Given the description of an element on the screen output the (x, y) to click on. 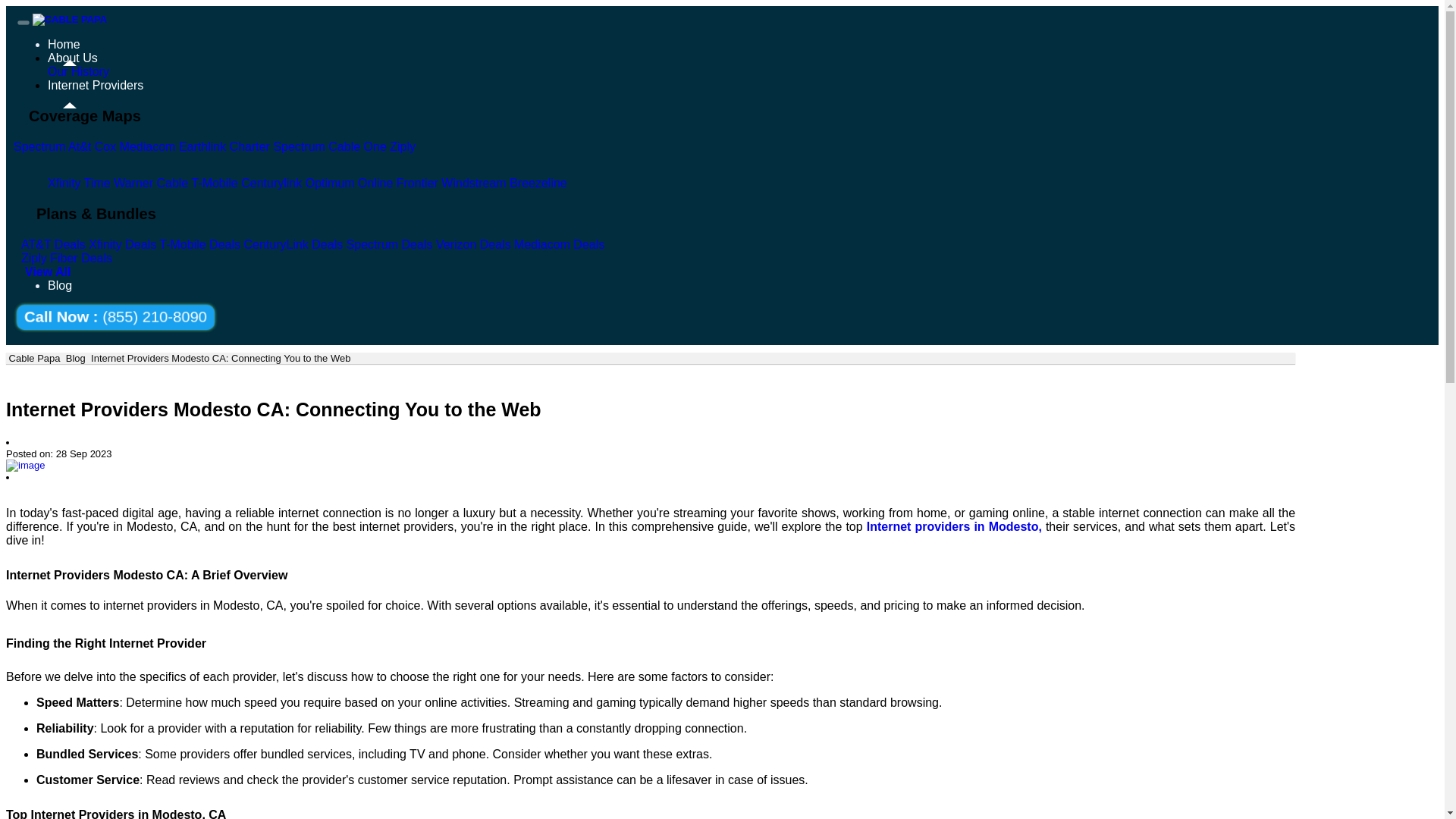
View All (46, 271)
T-Mobile Deals (200, 244)
Internet Providers Modesto CA: Connecting You to the Web (220, 357)
Blog (75, 357)
Spectrum Deals (389, 244)
 Cable Papa (33, 357)
Time Warner Cable (136, 182)
Optimum Online (347, 182)
Earthlink (183, 146)
Spectrum (94, 165)
